Given the description of an element on the screen output the (x, y) to click on. 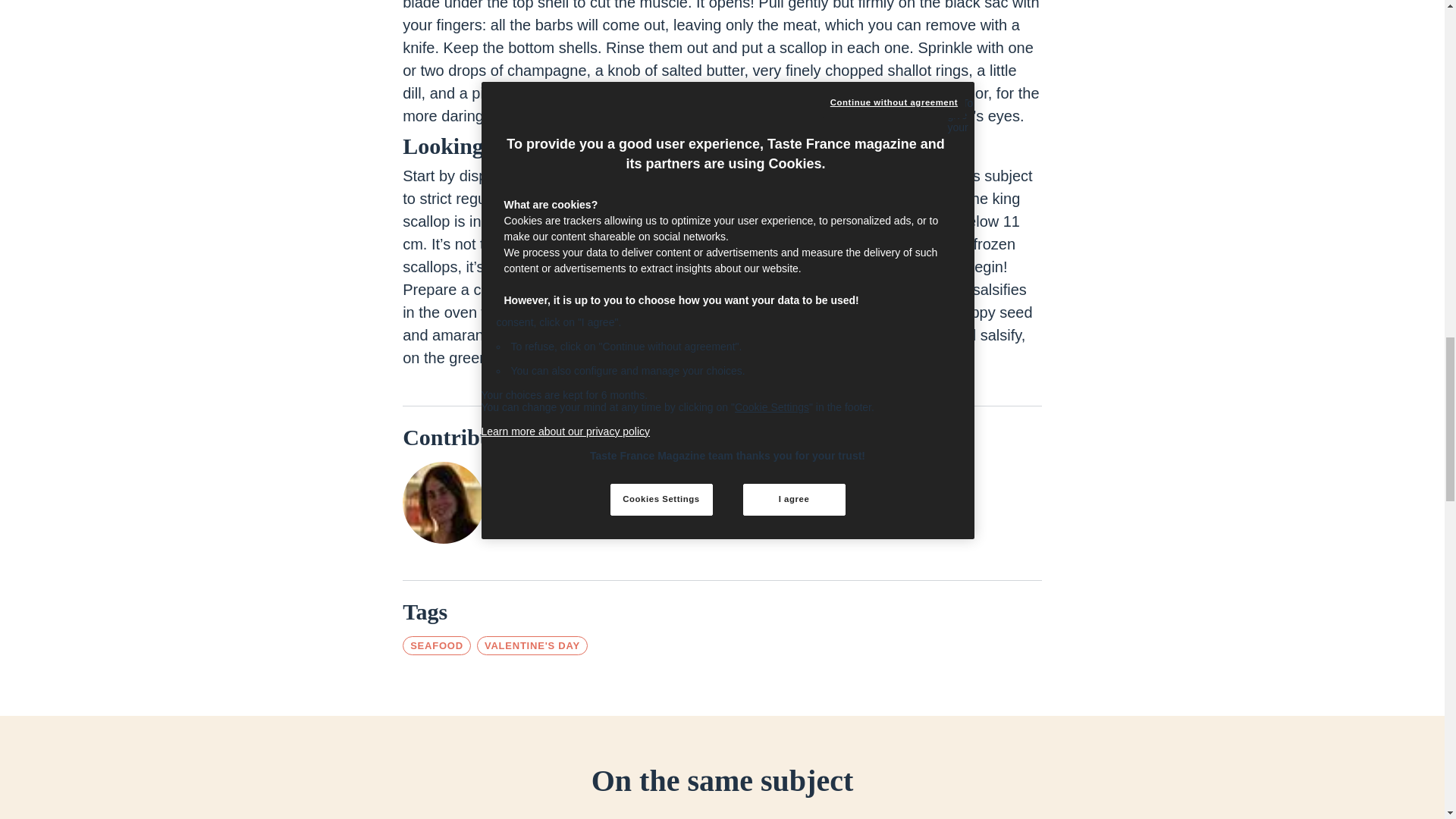
VALENTINE'S DAY (532, 645)
Keda Black (547, 491)
SEAFOOD (436, 645)
